Given the description of an element on the screen output the (x, y) to click on. 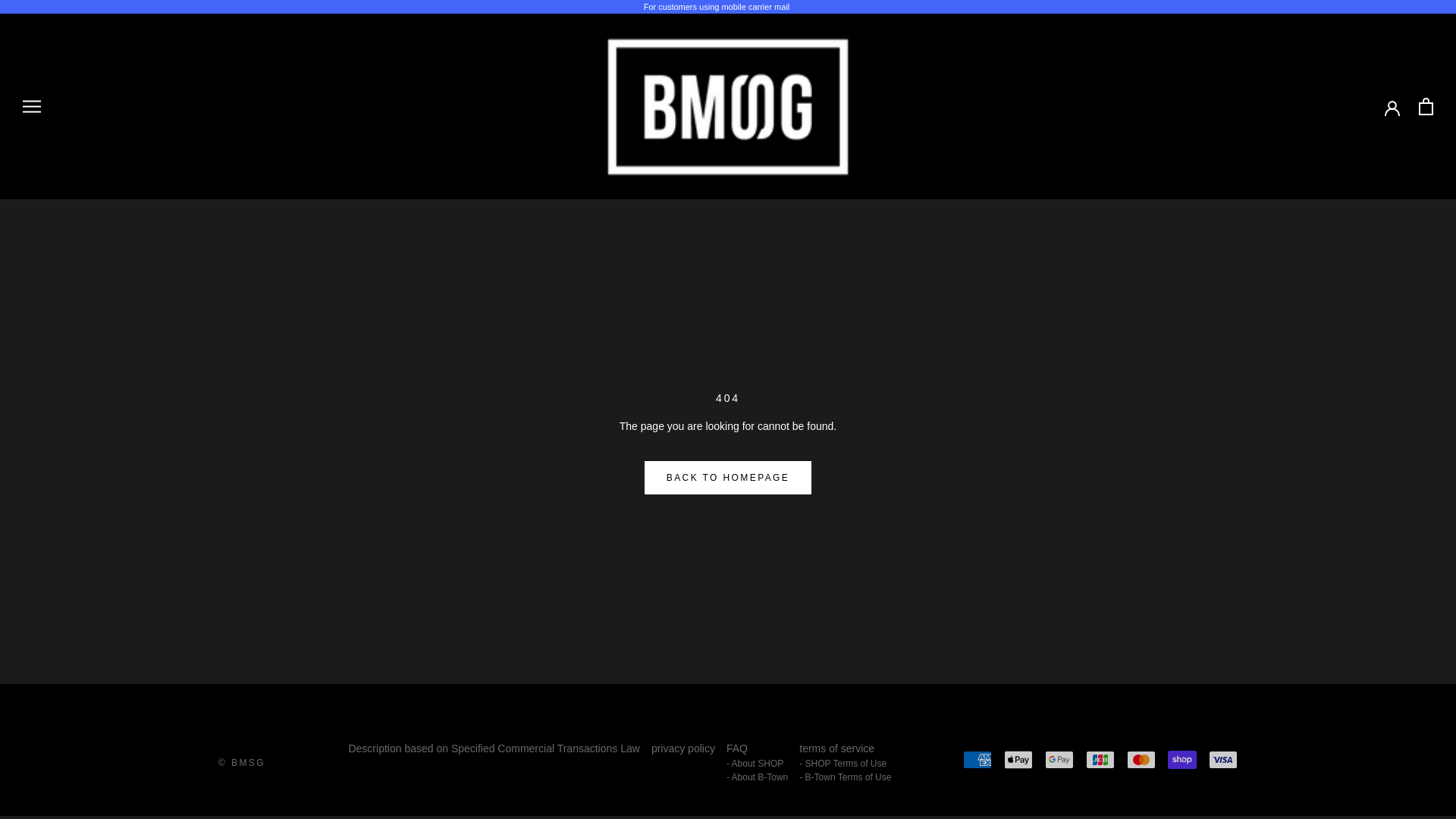
Google Pay (1059, 760)
American Express (976, 760)
Visa (1222, 760)
privacy policy (682, 748)
Apple Pay (1018, 760)
- B-Town Terms of Use (845, 776)
- SHOP Terms of Use (845, 763)
BACK TO HOMEPAGE (727, 477)
- About SHOP (756, 763)
- About B-Town (756, 776)
For customers using mobile carrier mail (716, 6)
Mastercard (1141, 760)
JCB (1100, 760)
Shop Pay (1181, 760)
Description based on Specified Commercial Transactions Law (493, 748)
